Given the description of an element on the screen output the (x, y) to click on. 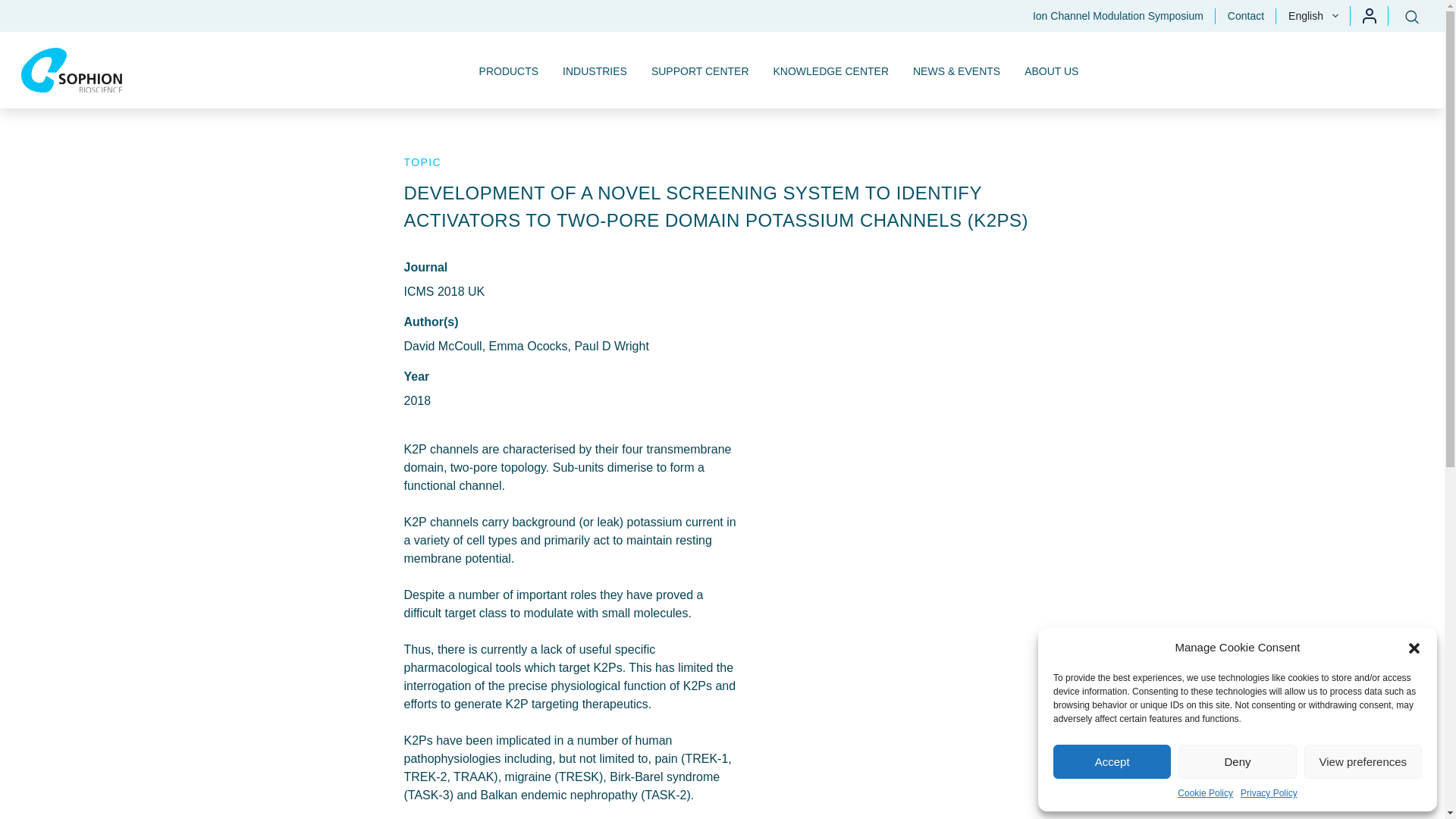
PRODUCTS (509, 69)
View preferences (1363, 761)
Cookie Policy (1205, 793)
ENGLISH (1308, 44)
Contact (1245, 15)
Ion Channel Modulation Symposium (1117, 15)
Deny (1236, 761)
Accept (1111, 761)
Privacy Policy (1268, 793)
